Given the description of an element on the screen output the (x, y) to click on. 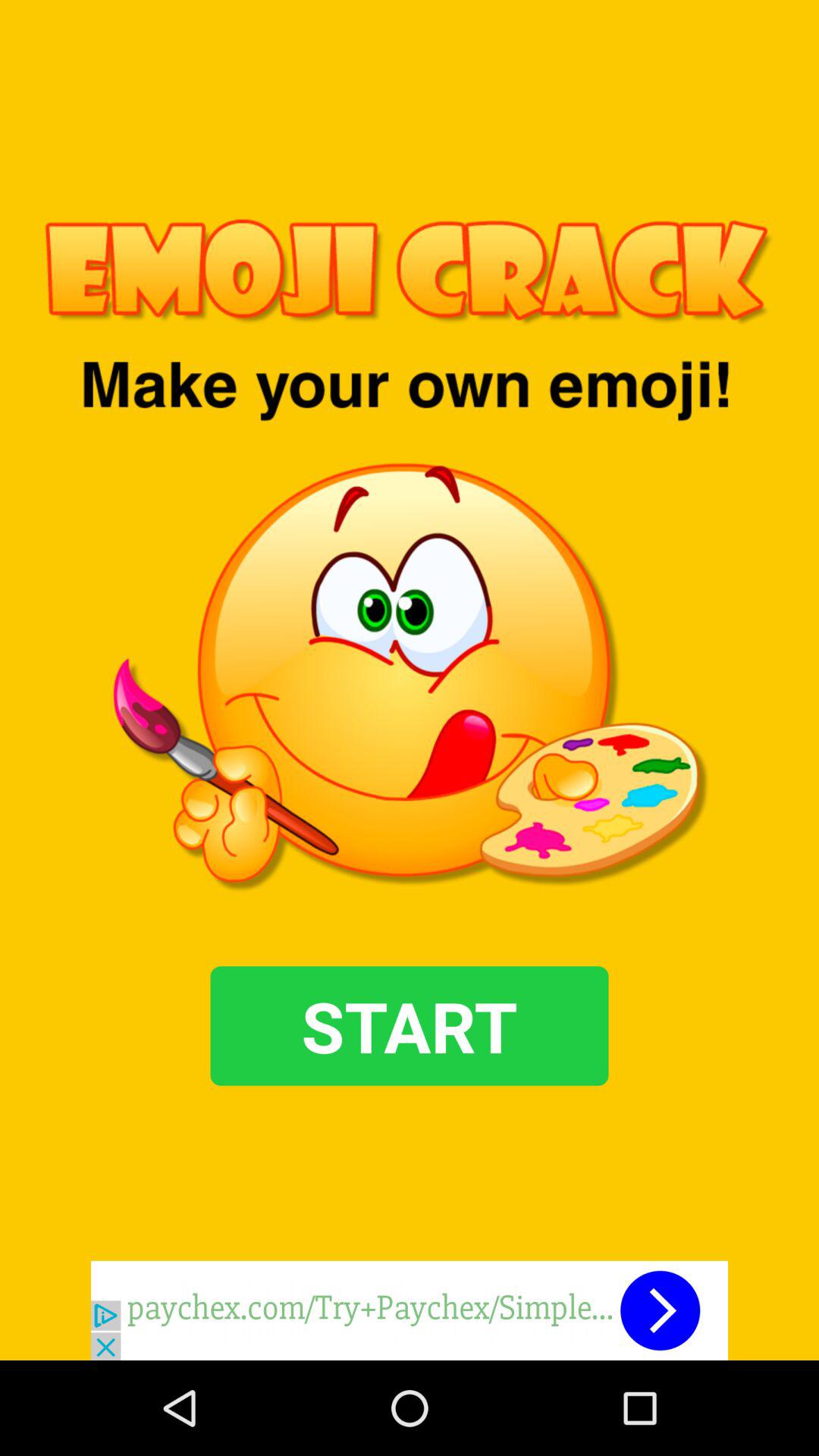
go to advertisement (409, 1310)
